Given the description of an element on the screen output the (x, y) to click on. 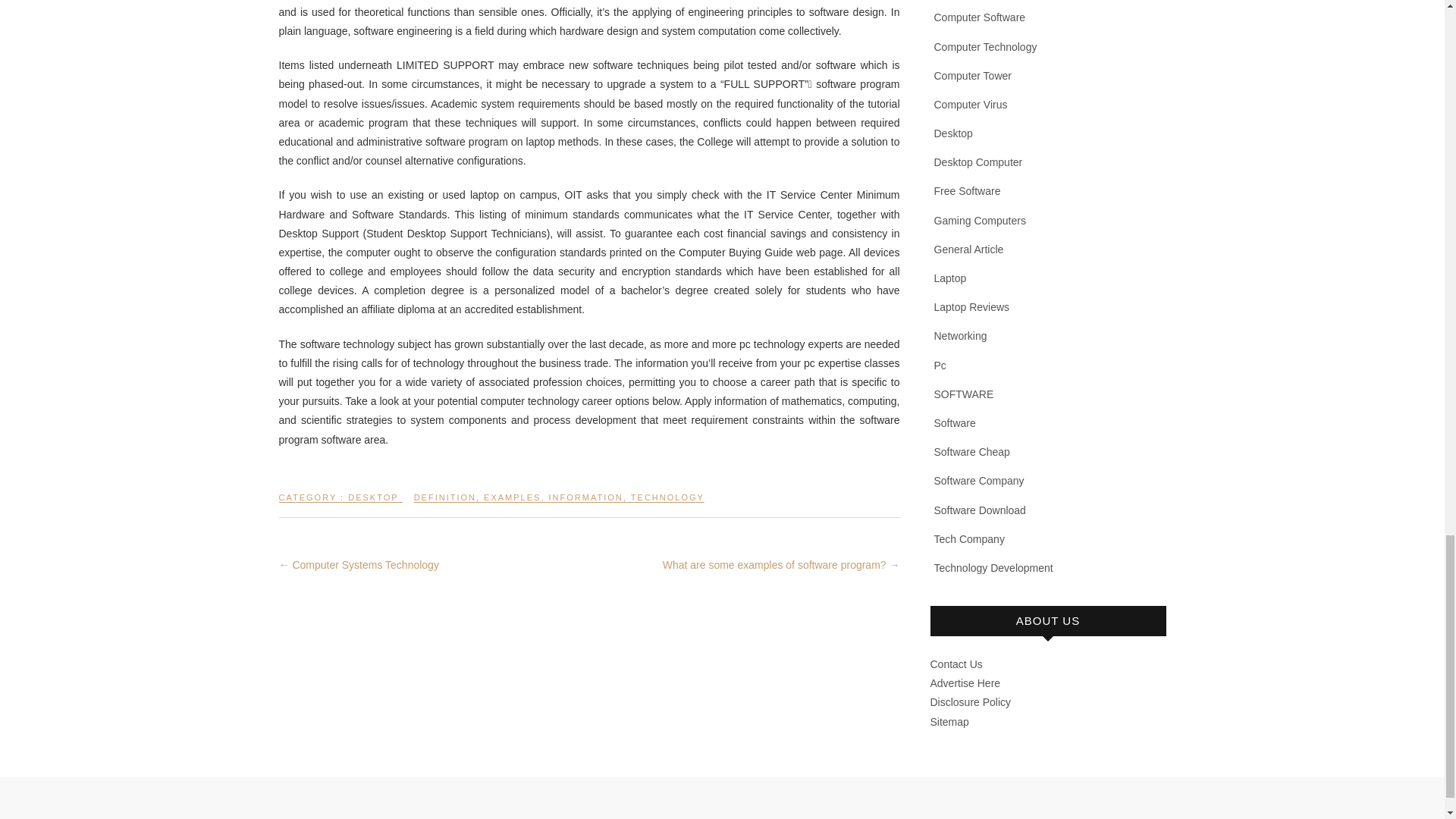
INFORMATION (585, 503)
EXAMPLES (511, 503)
DEFINITION (444, 503)
DESKTOP (372, 503)
